Given the description of an element on the screen output the (x, y) to click on. 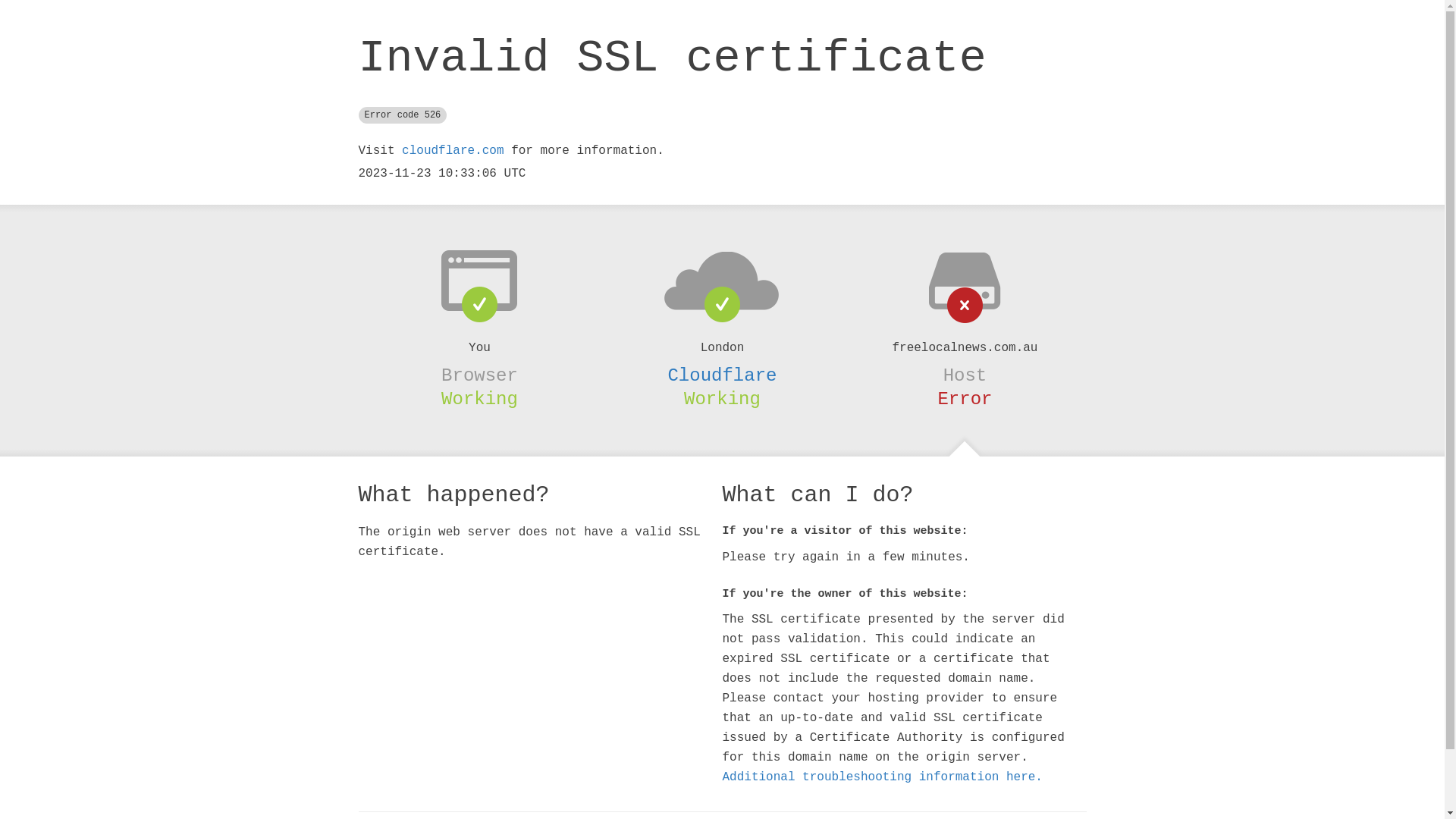
Additional troubleshooting information here. Element type: text (881, 777)
Cloudflare Element type: text (721, 375)
cloudflare.com Element type: text (452, 150)
